Given the description of an element on the screen output the (x, y) to click on. 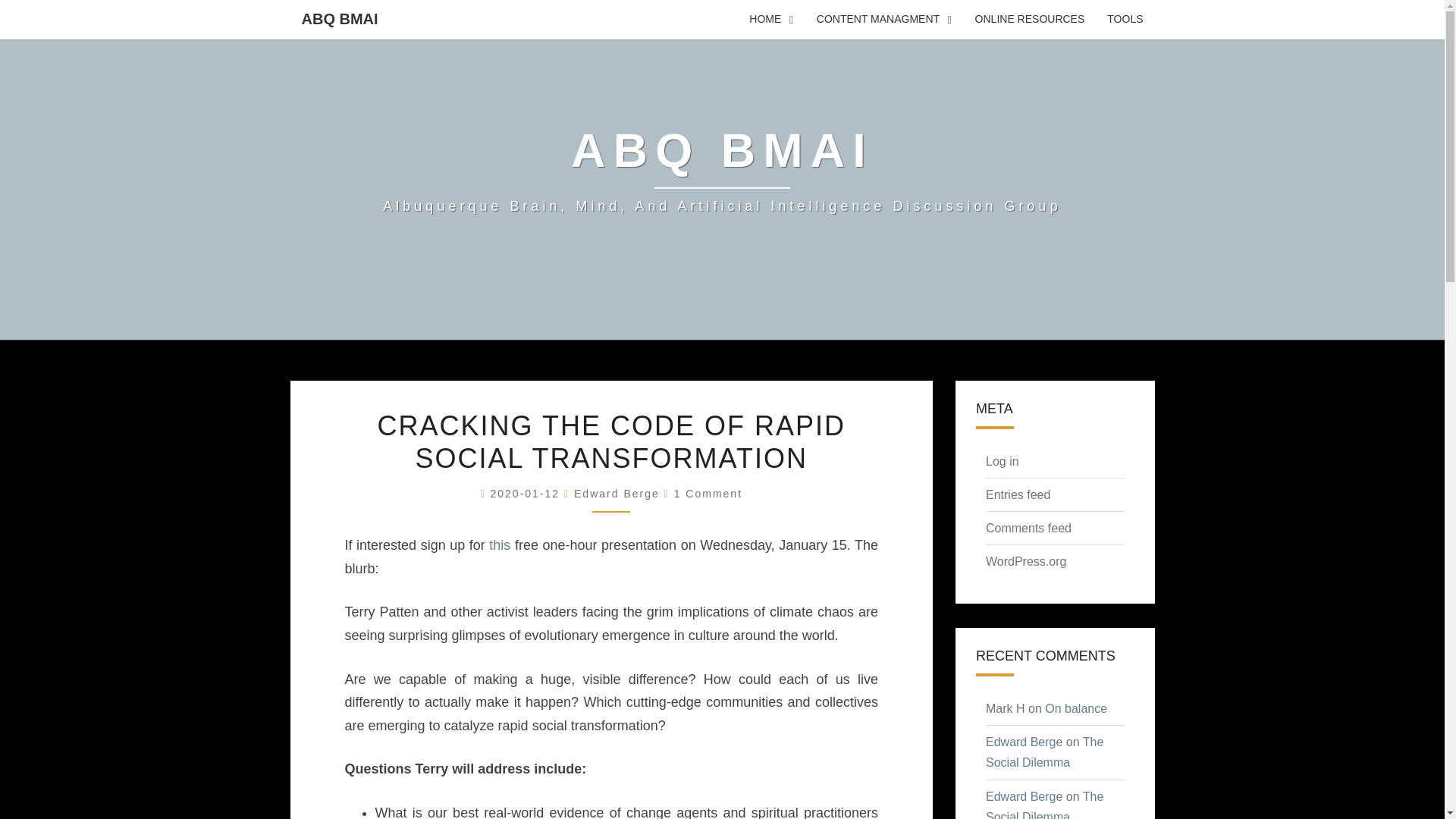
View all posts by Edward Berge (616, 493)
ABQ BMAI (338, 18)
ONLINE RESOURCES (1029, 19)
2020-01-12 (526, 493)
HOME (771, 19)
this (500, 544)
CONTENT MANAGMENT (884, 19)
ABQ BMAI (721, 169)
Edward Berge (616, 493)
8:57 am (526, 493)
TOOLS (1125, 19)
1 Comment (708, 493)
